Given the description of an element on the screen output the (x, y) to click on. 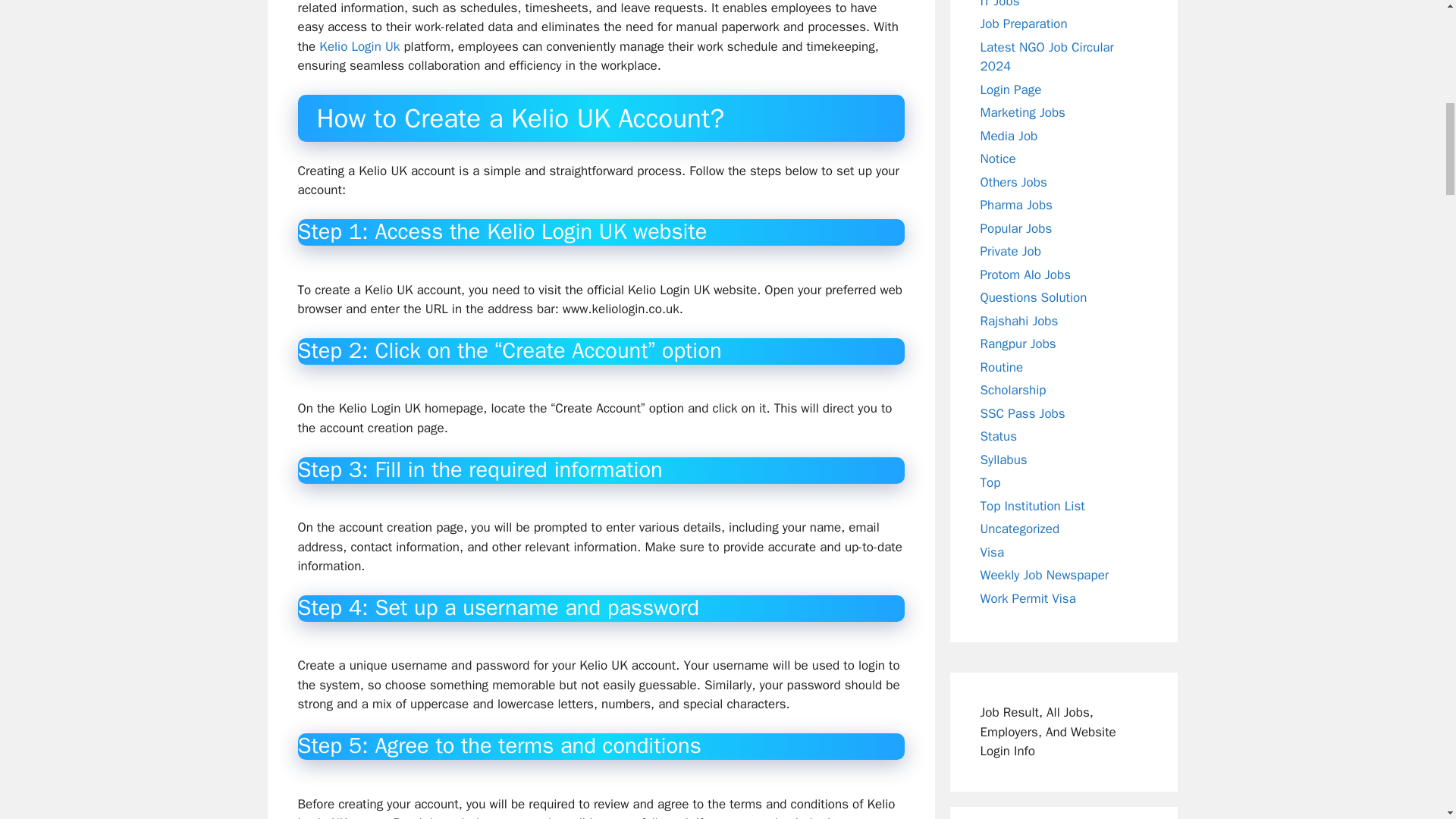
Kelio Login Uk (358, 46)
